Given the description of an element on the screen output the (x, y) to click on. 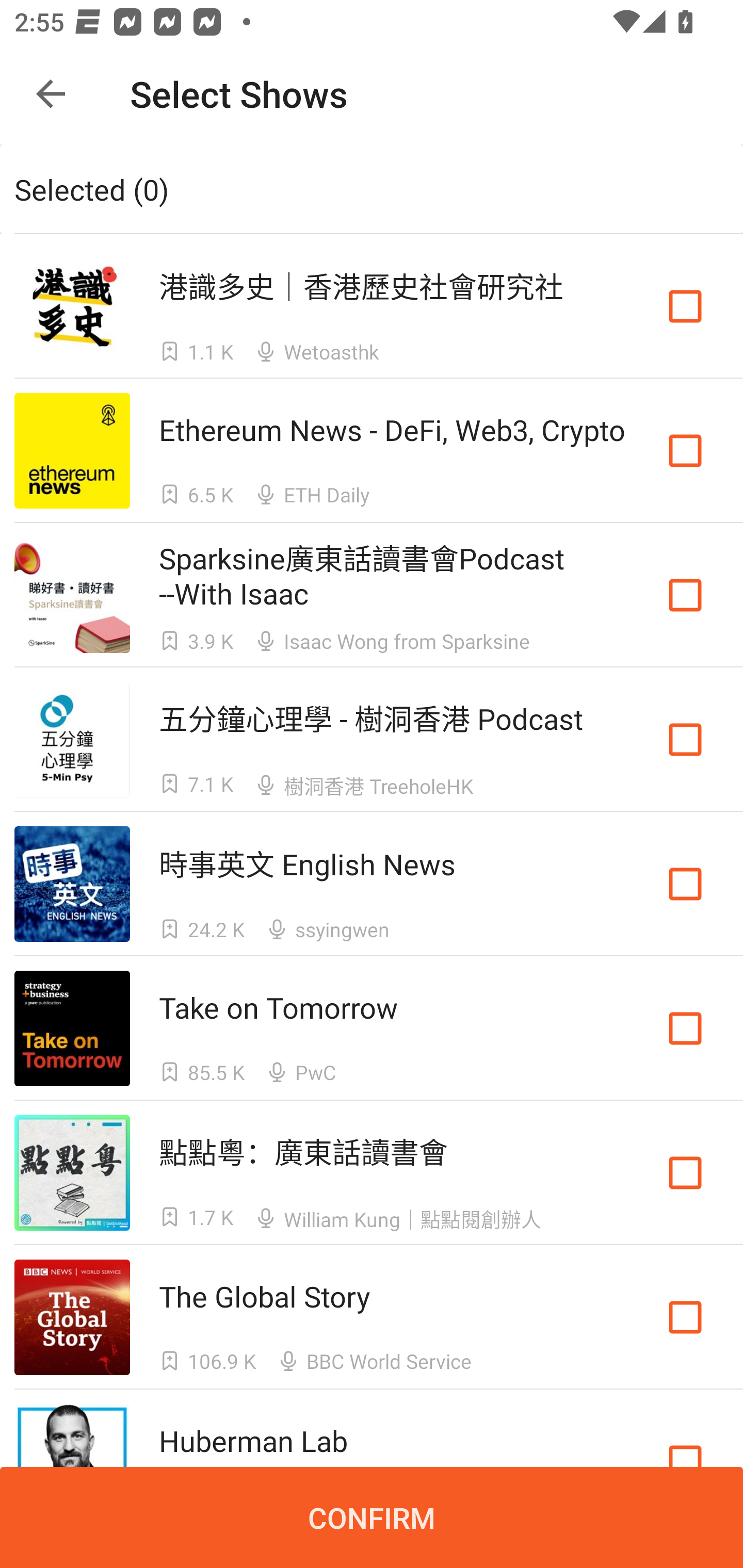
Navigate up (50, 93)
港識多史｜香港歷史社會研究社 港識多史｜香港歷史社會研究社  1.1 K  Wetoasthk (371, 305)
Take on Tomorrow Take on Tomorrow  85.5 K  PwC (371, 1028)
CONFIRM (371, 1517)
